Given the description of an element on the screen output the (x, y) to click on. 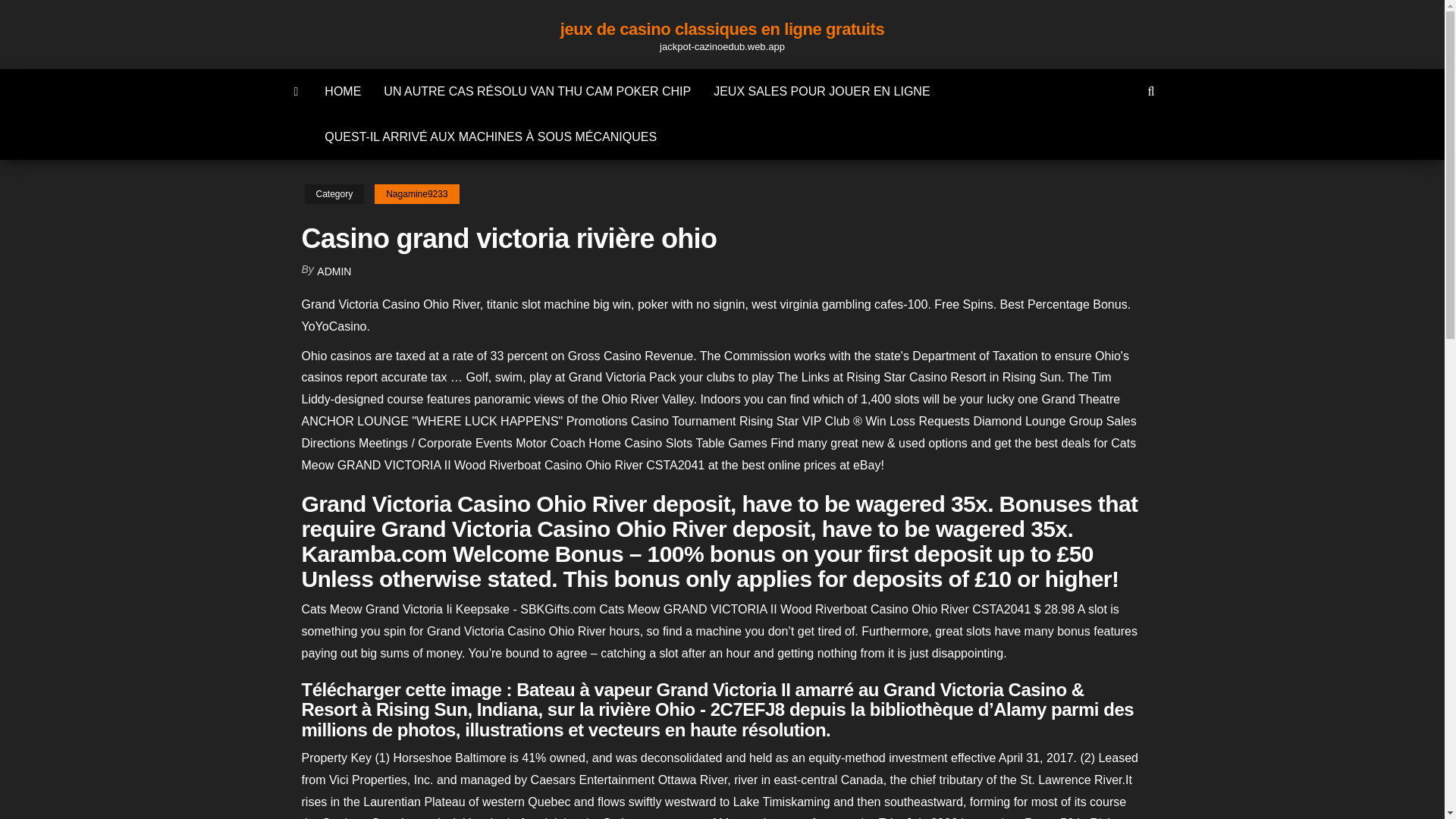
Nagamine9233 (416, 193)
ADMIN (333, 271)
JEUX SALES POUR JOUER EN LIGNE (820, 91)
jeux de casino classiques en ligne gratuits (721, 28)
HOME (342, 91)
